Given the description of an element on the screen output the (x, y) to click on. 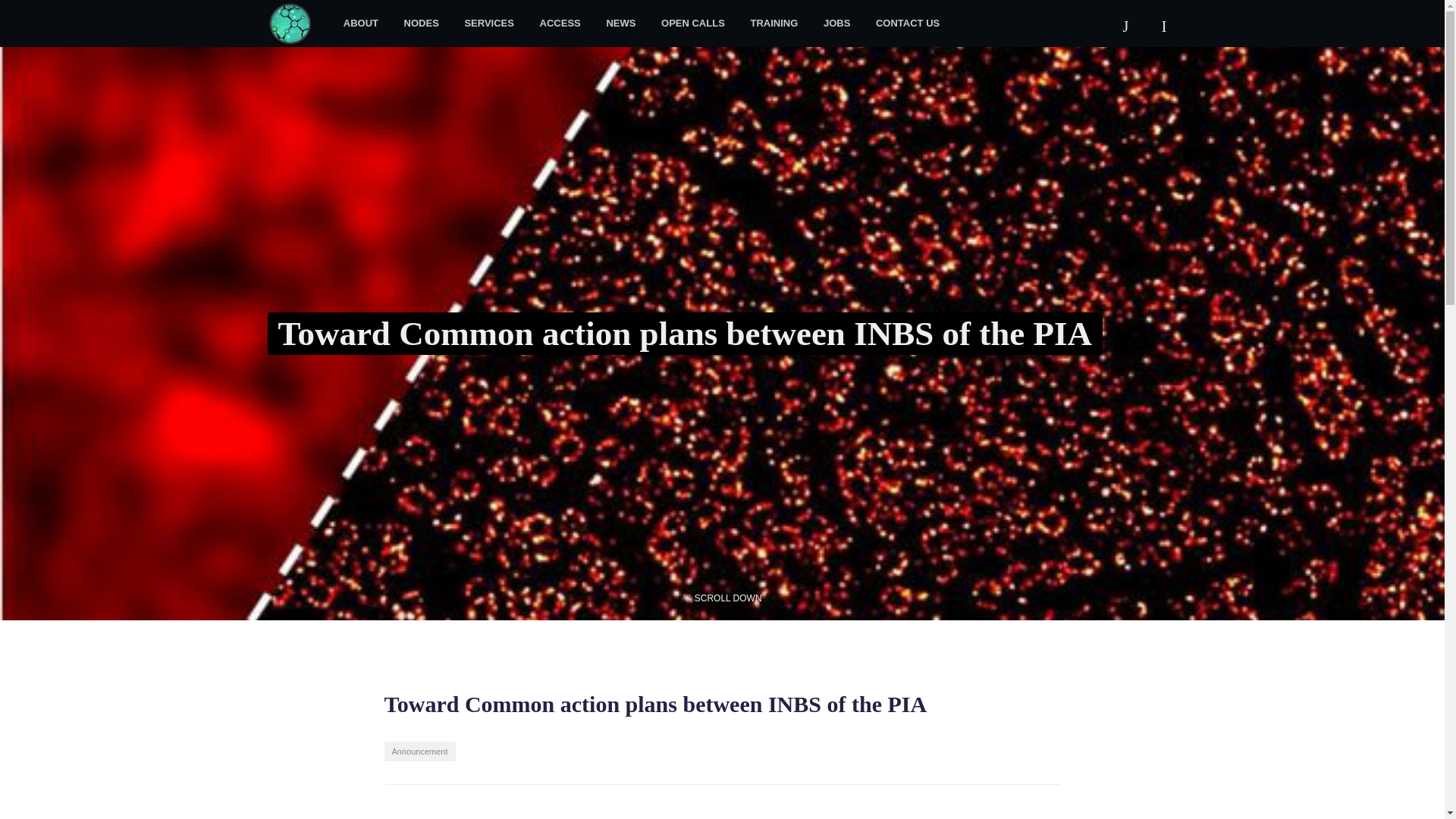
JOBS (836, 23)
NODES (421, 23)
NEWS (620, 23)
OPEN CALLS (692, 23)
Announcement (419, 752)
CONTACT US (907, 23)
SERVICES (488, 23)
ABOUT (360, 23)
ACCESS (560, 23)
TRAINING (773, 23)
